Given the description of an element on the screen output the (x, y) to click on. 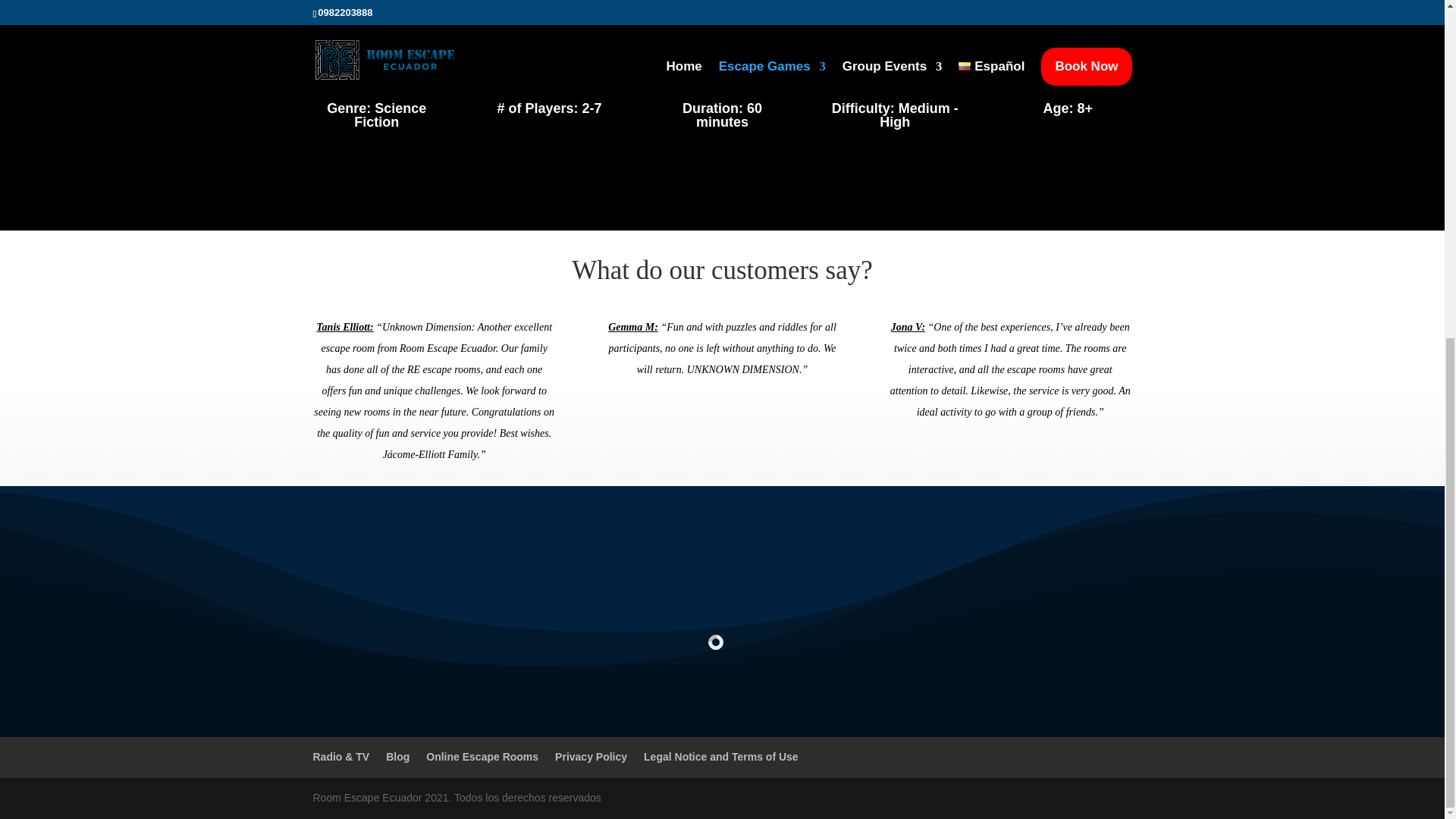
Privacy Policy (590, 756)
Legal Notice and Terms of Use (720, 756)
Blog (397, 756)
Online Escape Rooms (482, 756)
